Given the description of an element on the screen output the (x, y) to click on. 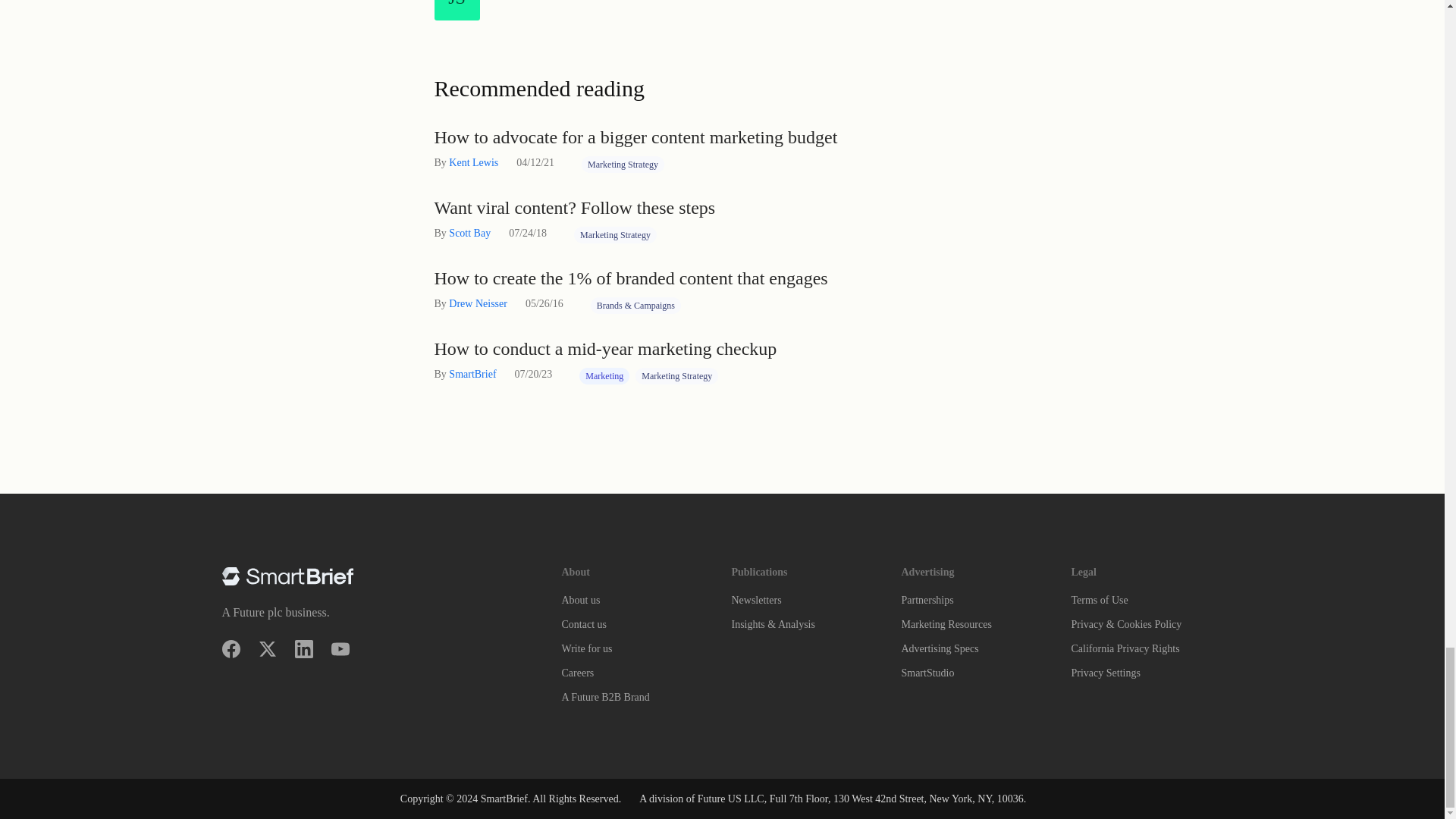
Facebook (230, 648)
LinkedIn (303, 648)
YouTube (339, 648)
